Given the description of an element on the screen output the (x, y) to click on. 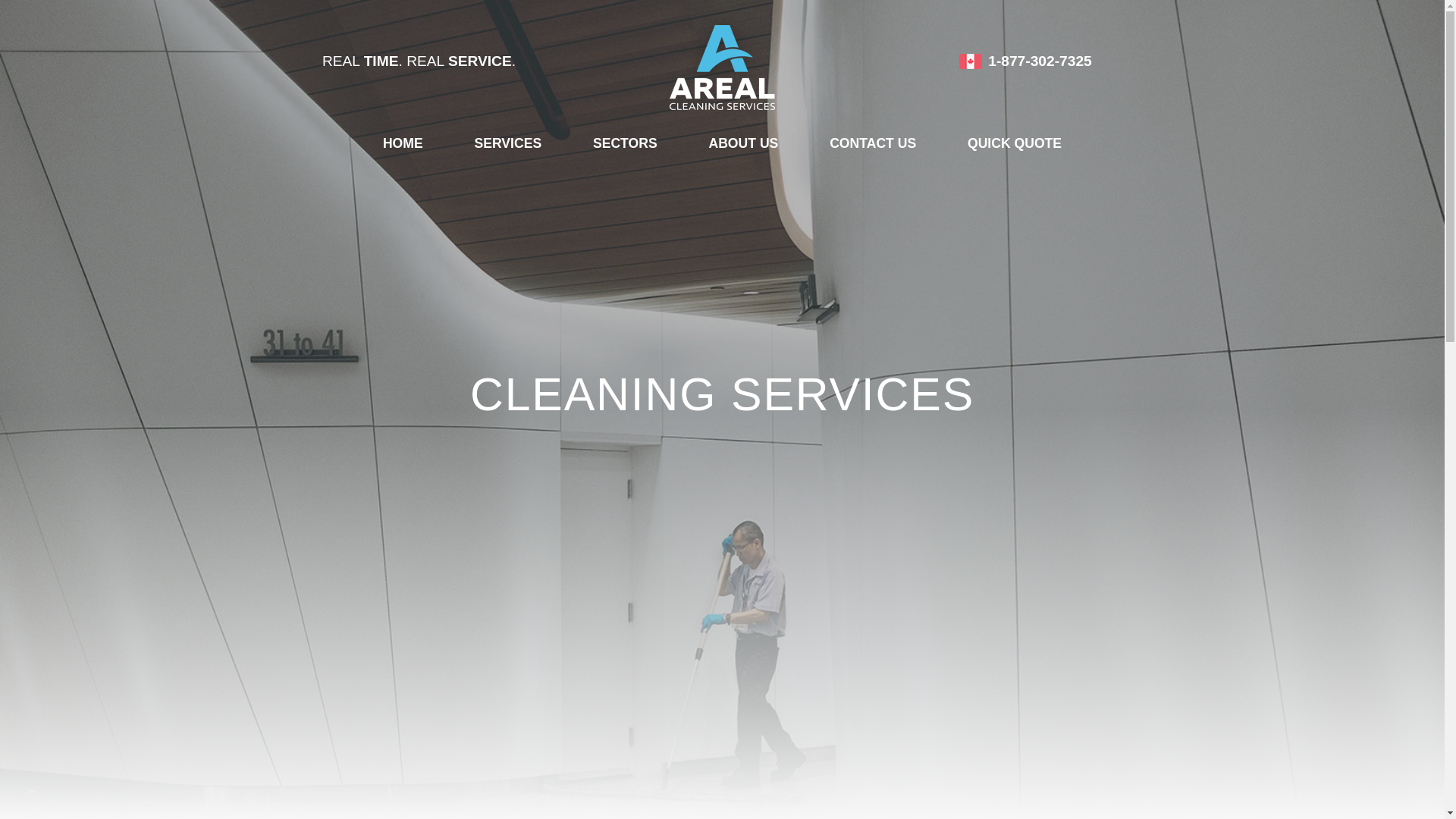
SERVICES Element type: text (507, 144)
CLEANING SERVICES Element type: text (557, 219)
PROPERTY MANAGEMENT Element type: text (676, 230)
QUICK QUOTE Element type: text (1014, 144)
INDUSTRIAL Element type: text (676, 344)
ABOUT US Element type: text (742, 144)
HOTELS Element type: text (676, 379)
OFFICES Element type: text (676, 310)
1-877-302-7325 Element type: text (1025, 61)
COMMERCIAL & RETAIL Element type: text (676, 184)
JANITORIAL SERVICES Element type: text (557, 184)
HOME Element type: text (402, 144)
Areal Element type: hover (722, 59)
CONTACT US Element type: text (872, 144)
CONSTRUCTION Element type: text (676, 275)
SECTORS Element type: text (625, 144)
